Given the description of an element on the screen output the (x, y) to click on. 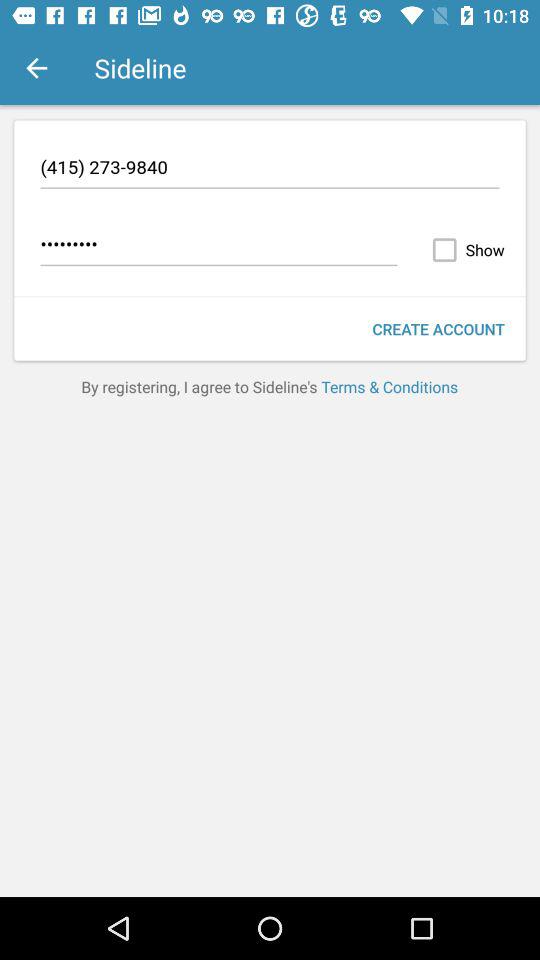
jump until (415) 273-9840 (269, 170)
